Given the description of an element on the screen output the (x, y) to click on. 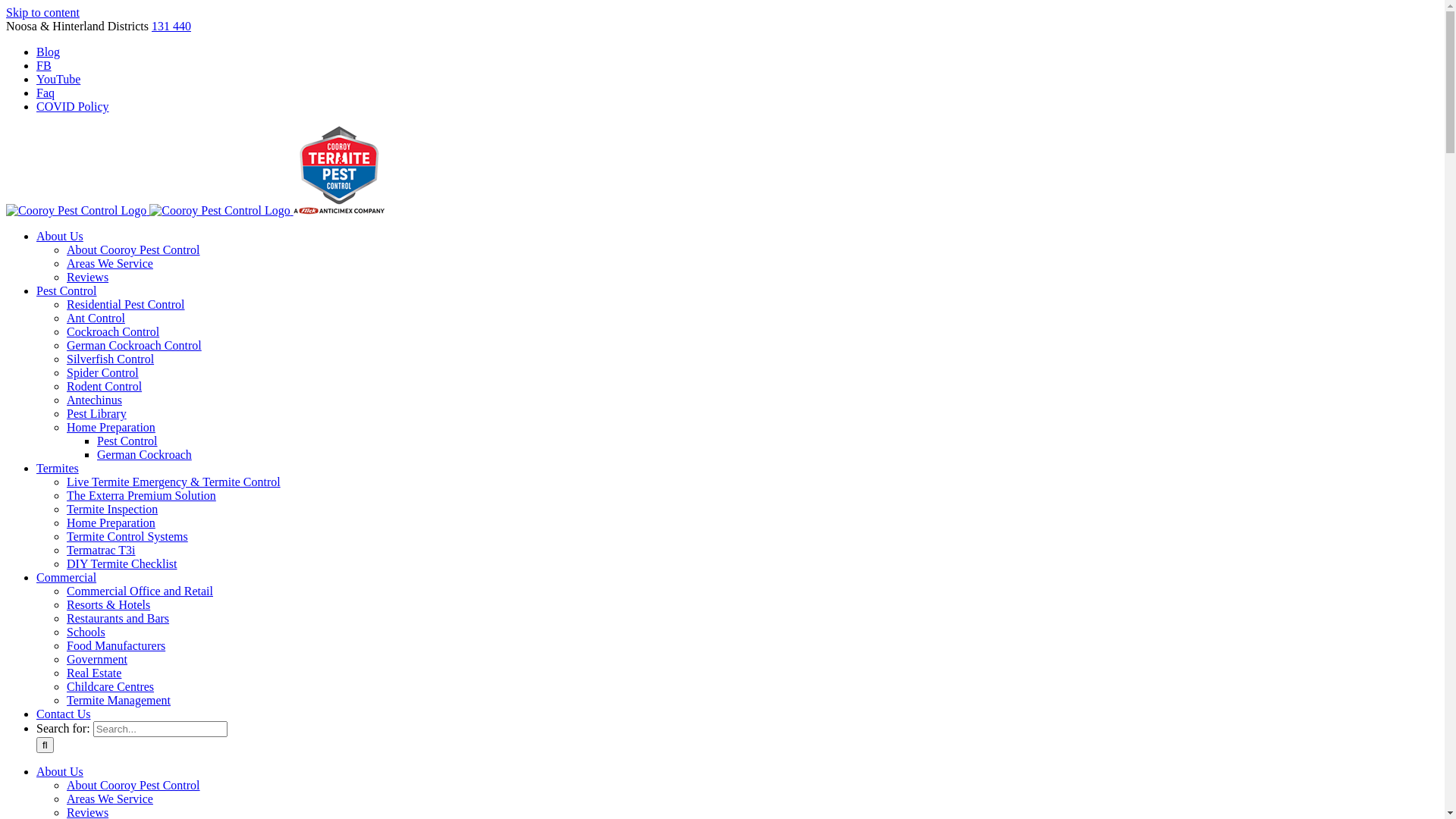
Residential Pest Control Element type: text (125, 304)
Faq Element type: text (45, 92)
Antechinus Element type: text (94, 399)
COVID Policy Element type: text (72, 106)
Ant Control Element type: text (95, 317)
Termites Element type: text (57, 467)
Childcare Centres Element type: text (109, 686)
Spider Control Element type: text (102, 372)
Rodent Control Element type: text (103, 385)
German Cockroach Control Element type: text (133, 344)
Blog Element type: text (47, 51)
About Cooroy Pest Control Element type: text (133, 249)
About Us Element type: text (59, 771)
Contact Us Element type: text (63, 713)
Termite Management Element type: text (118, 699)
Silverfish Control Element type: text (109, 358)
DIY Termite Checklist Element type: text (121, 563)
Commercial Office and Retail Element type: text (139, 590)
About Us Element type: text (59, 235)
FB Element type: text (43, 65)
YouTube Element type: text (58, 78)
Cockroach Control Element type: text (112, 331)
Government Element type: text (96, 658)
Reviews Element type: text (87, 276)
Home Preparation Element type: text (110, 522)
Resorts & Hotels Element type: text (108, 604)
Restaurants and Bars Element type: text (117, 617)
Pest Control Element type: text (66, 290)
German Cockroach Element type: text (144, 454)
Areas We Service Element type: text (109, 798)
Schools Element type: text (85, 631)
Pest Library Element type: text (96, 413)
Live Termite Emergency & Termite Control Element type: text (173, 481)
Skip to content Element type: text (42, 12)
Termite Control Systems Element type: text (127, 536)
Areas We Service Element type: text (109, 263)
Home Preparation Element type: text (110, 426)
Food Manufacturers Element type: text (115, 645)
Commercial Element type: text (66, 577)
Pest Control Element type: text (127, 440)
Termite Inspection Element type: text (111, 508)
Real Estate Element type: text (93, 672)
About Cooroy Pest Control Element type: text (133, 784)
Termatrac T3i Element type: text (100, 549)
131 440 Element type: text (171, 25)
The Exterra Premium Solution Element type: text (141, 495)
